Given the description of an element on the screen output the (x, y) to click on. 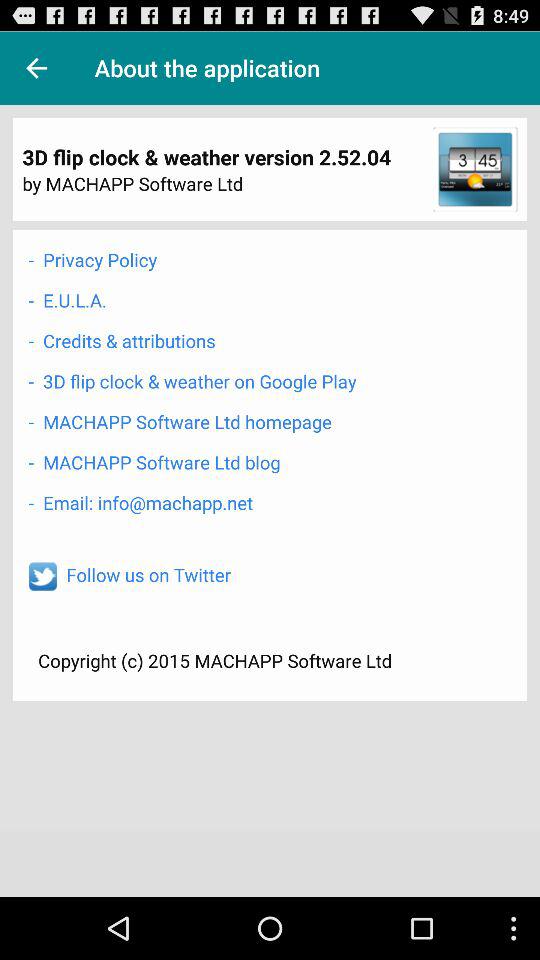
launch the icon above copyright c 2015 item (148, 574)
